Given the description of an element on the screen output the (x, y) to click on. 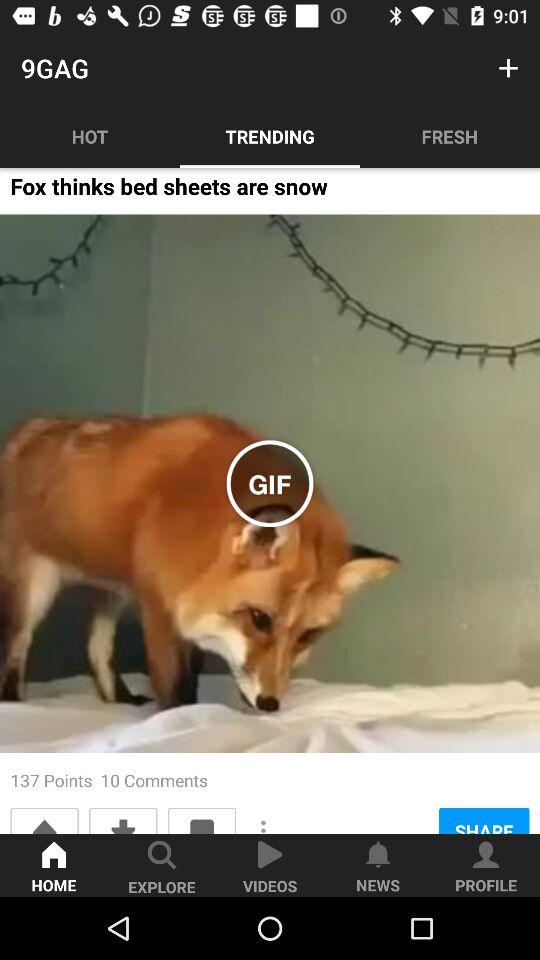
select the item next to 9gag item (508, 67)
